Given the description of an element on the screen output the (x, y) to click on. 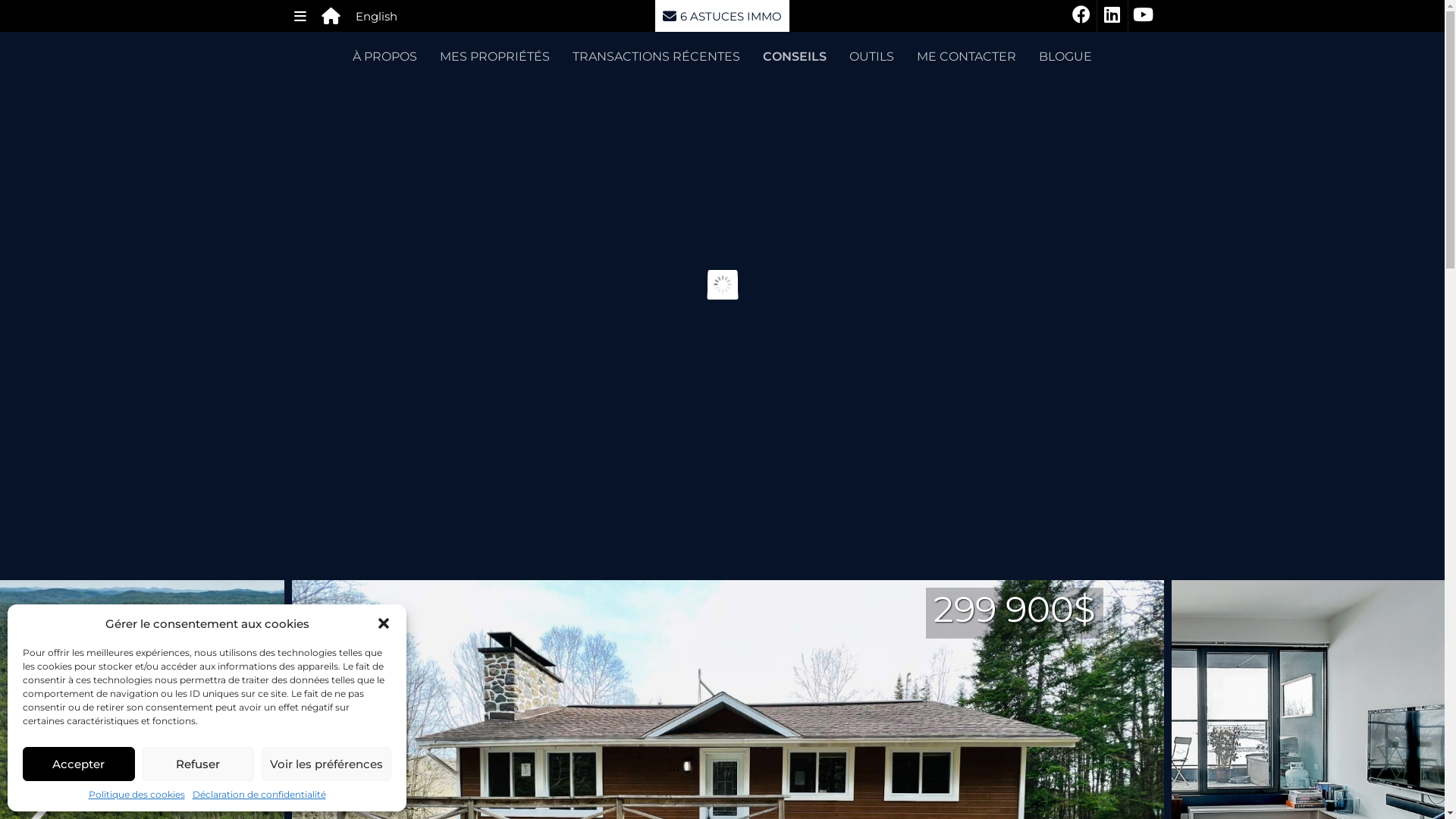
CONSEILS Element type: text (794, 56)
ME CONTACTER Element type: text (966, 56)
Refuser Element type: text (198, 763)
BLOGUE Element type: text (1065, 56)
OUTILS Element type: text (871, 56)
English Element type: text (375, 15)
Navigation Element type: hover (299, 15)
6 ASTUCES IMMO Element type: text (722, 15)
Accueil Element type: hover (330, 15)
Politique des cookies Element type: text (135, 794)
Accepter Element type: text (78, 763)
